Given the description of an element on the screen output the (x, y) to click on. 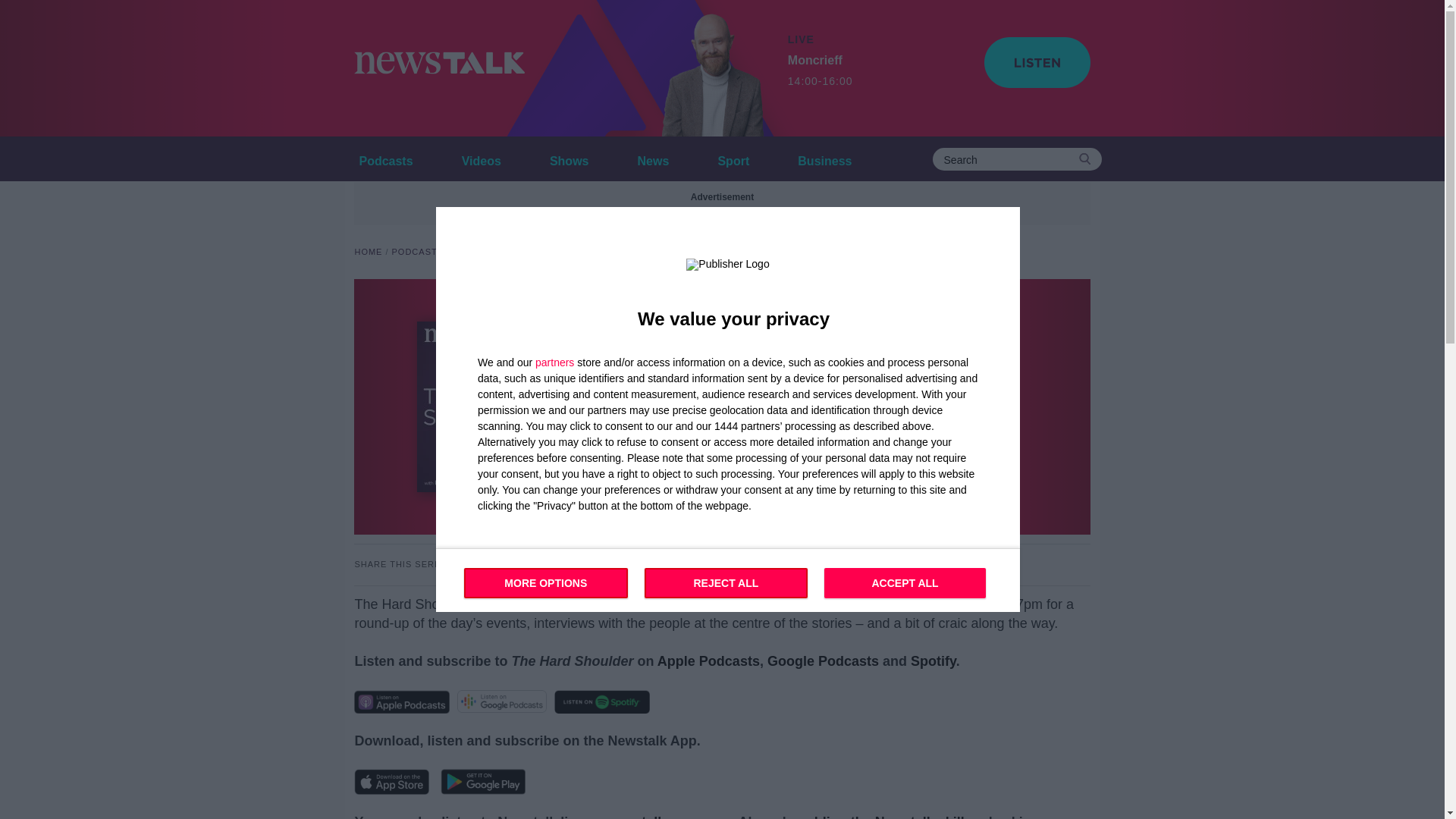
Sport (733, 158)
Shows (727, 579)
Podcasts (569, 158)
Videos (384, 158)
partners (481, 158)
Business (554, 362)
adding the Newstalk skill (824, 158)
Videos (882, 816)
PODCAST SERIES (481, 158)
